Given the description of an element on the screen output the (x, y) to click on. 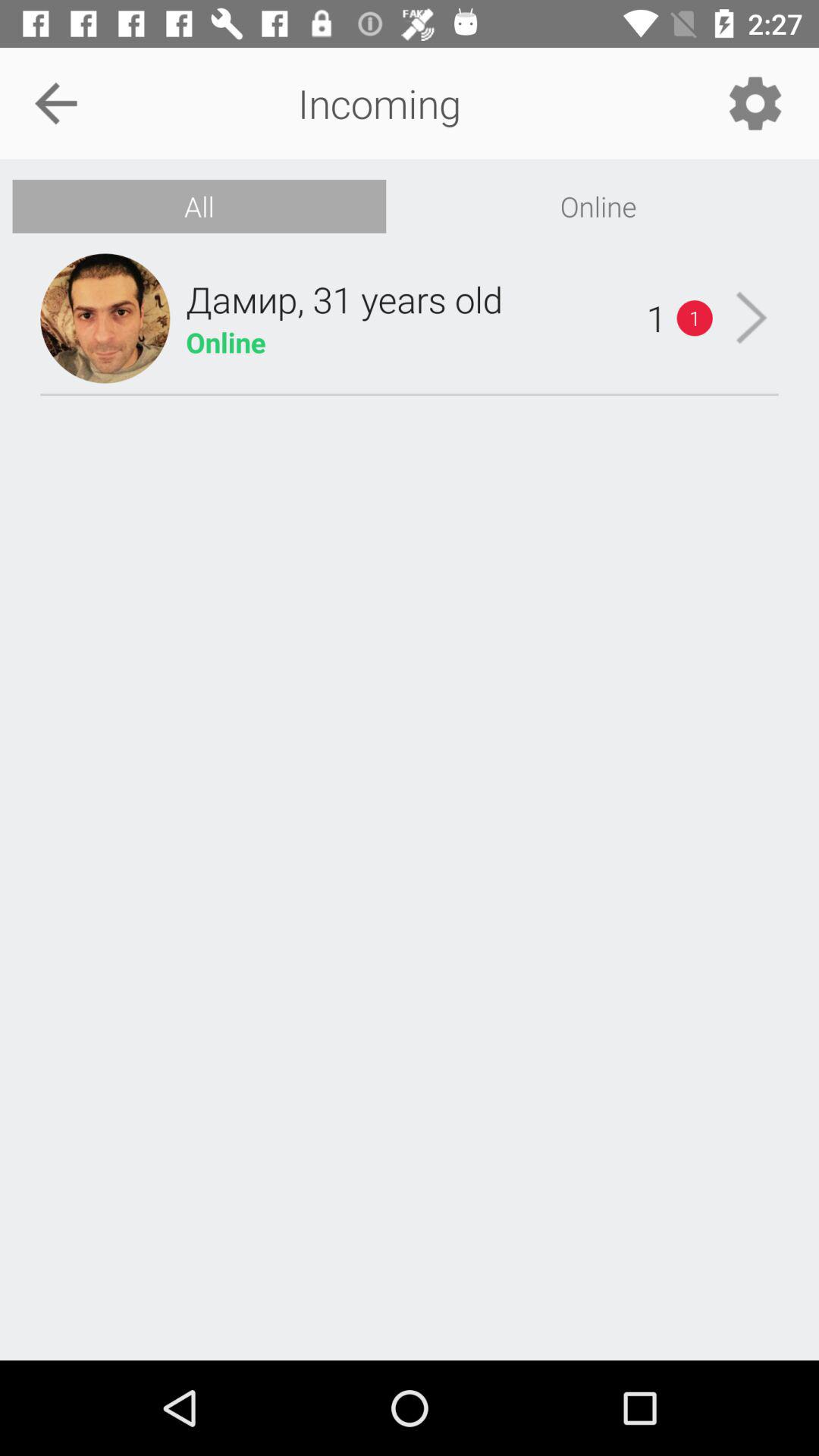
select item to the left of incoming item (55, 103)
